Given the description of an element on the screen output the (x, y) to click on. 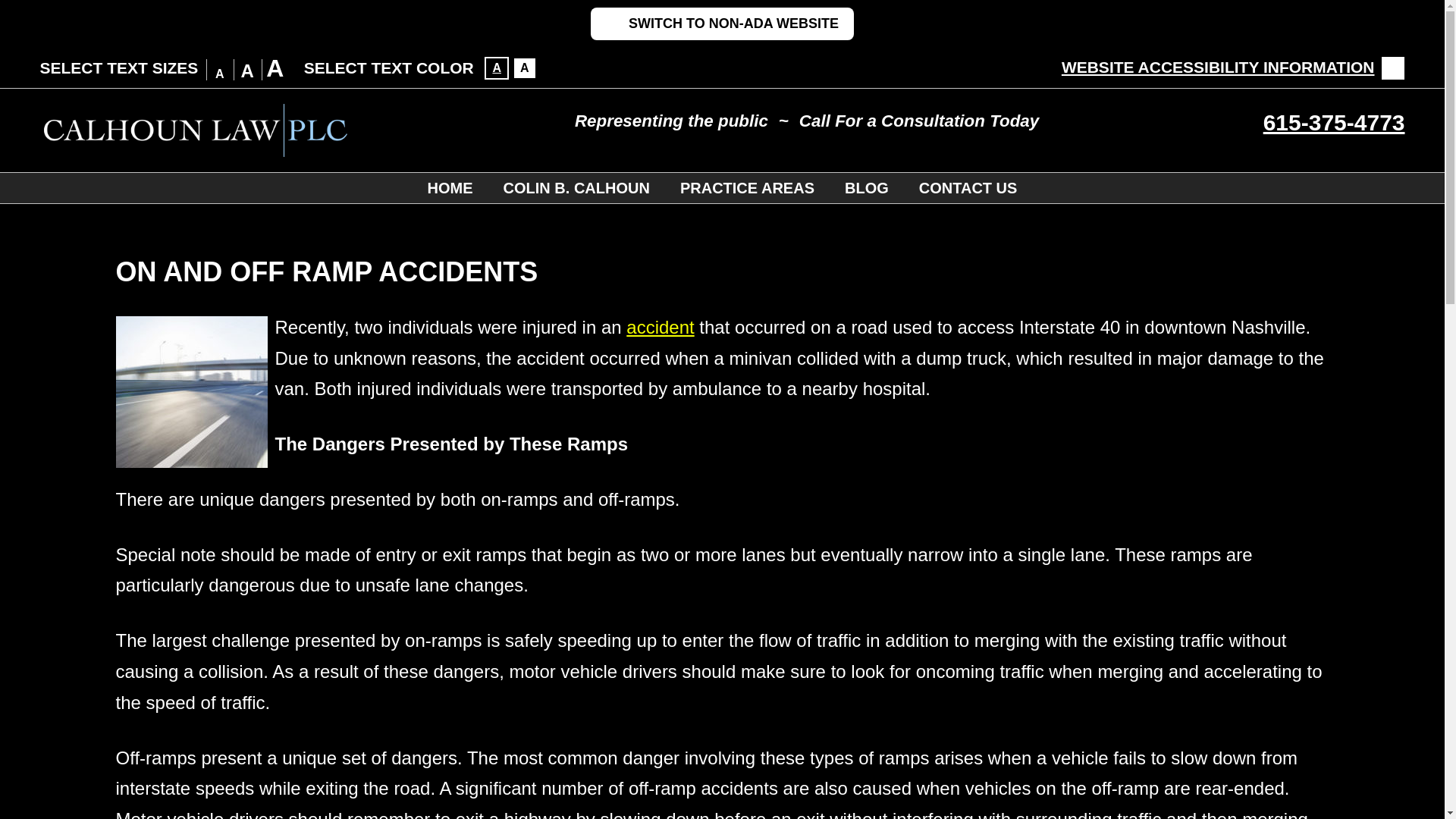
SWITCH TO NON-ADA WEBSITE (722, 23)
Invert Colors (496, 67)
WEBSITE ACCESSIBILITY INFORMATION (1233, 67)
HOME (449, 187)
OnRamp (190, 391)
A (496, 67)
Invert Colors (524, 67)
615-375-4773 (1334, 122)
PRACTICE AREAS (747, 187)
A (524, 67)
Click to view external accessibility article (1233, 67)
COLIN B. CALHOUN (576, 187)
